Given the description of an element on the screen output the (x, y) to click on. 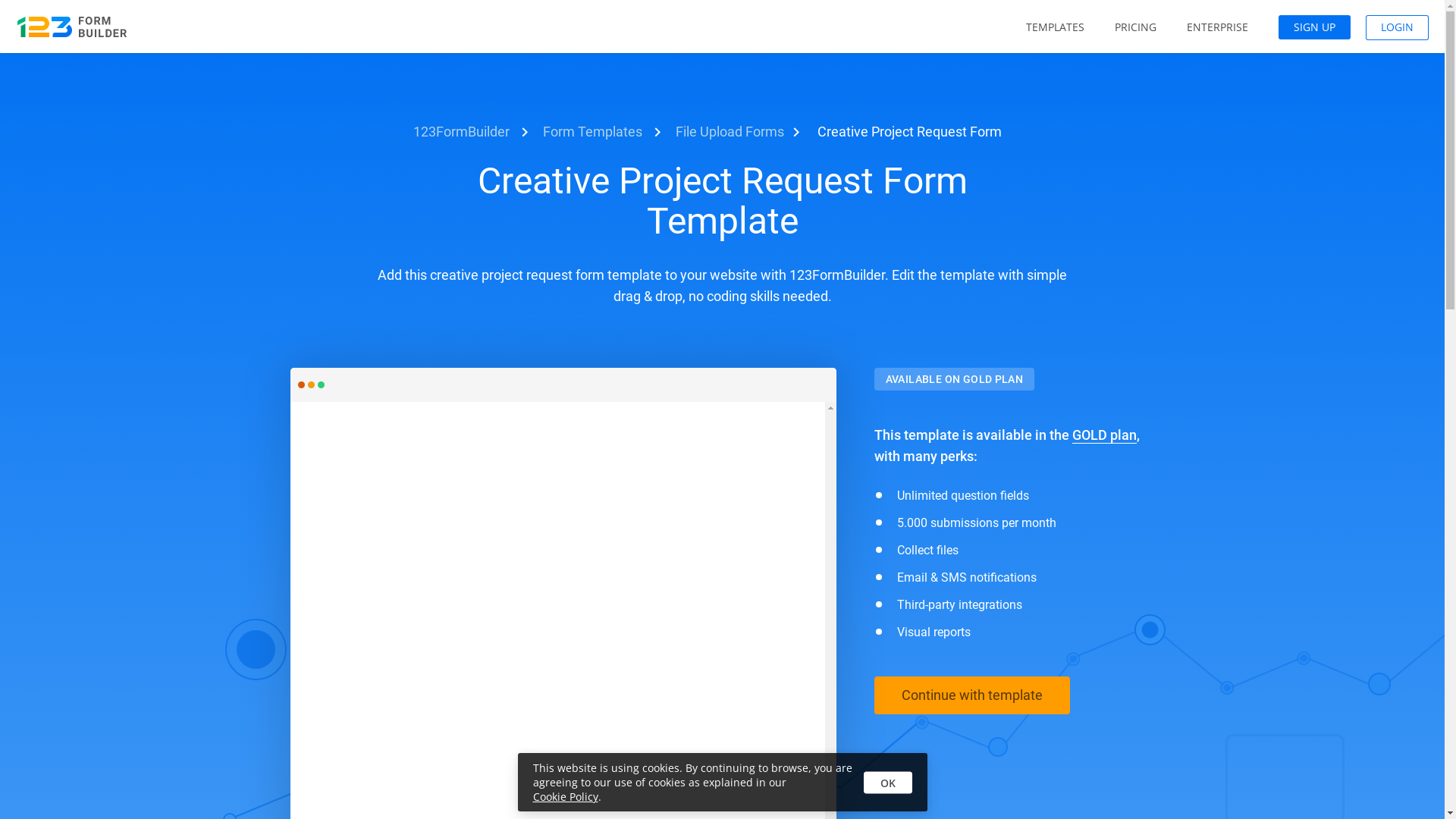
123FormBuilder Web Form Builder Element type: hover (71, 26)
PRICING Element type: text (1135, 26)
123FormBuilder Element type: text (460, 131)
File Upload Forms Element type: text (728, 131)
Form Templates Element type: text (592, 131)
LOGIN Element type: text (1396, 27)
TEMPLATES Element type: text (1054, 26)
ENTERPRISE Element type: text (1217, 26)
Cookie Policy Element type: text (564, 796)
OK Element type: text (886, 782)
Live Chat Button Element type: hover (1414, 788)
SIGN UP Element type: text (1314, 27)
Continue with template Element type: text (971, 695)
